Given the description of an element on the screen output the (x, y) to click on. 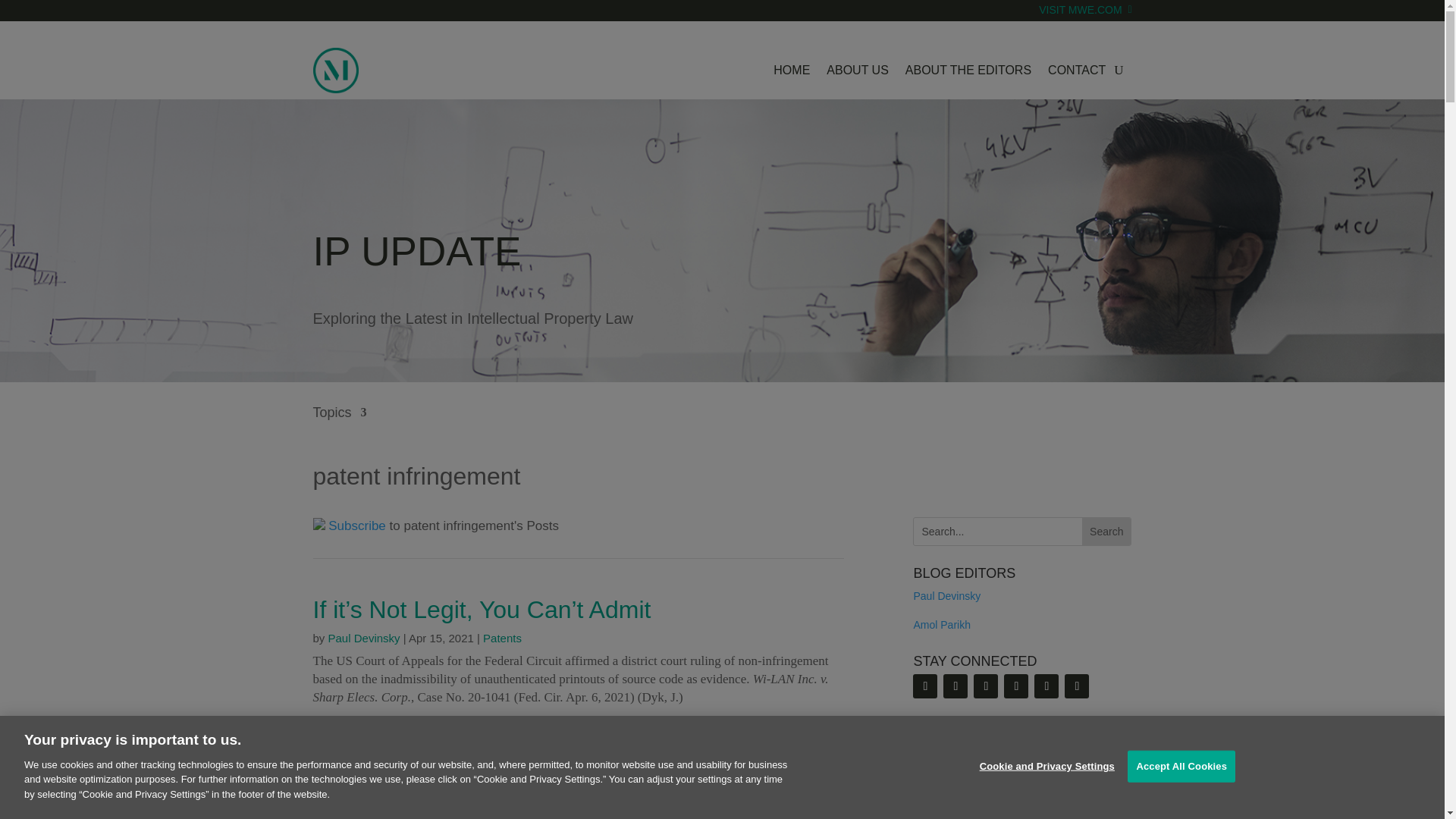
Search (1106, 531)
Follow on RSS (349, 525)
ABOUT US (857, 70)
VISIT MWE.COM   (1085, 20)
CONTACT (1076, 70)
Search (1106, 531)
Posts by Paul Devinsky (364, 637)
ABOUT THE EDITORS (967, 70)
Topics (339, 423)
